Given the description of an element on the screen output the (x, y) to click on. 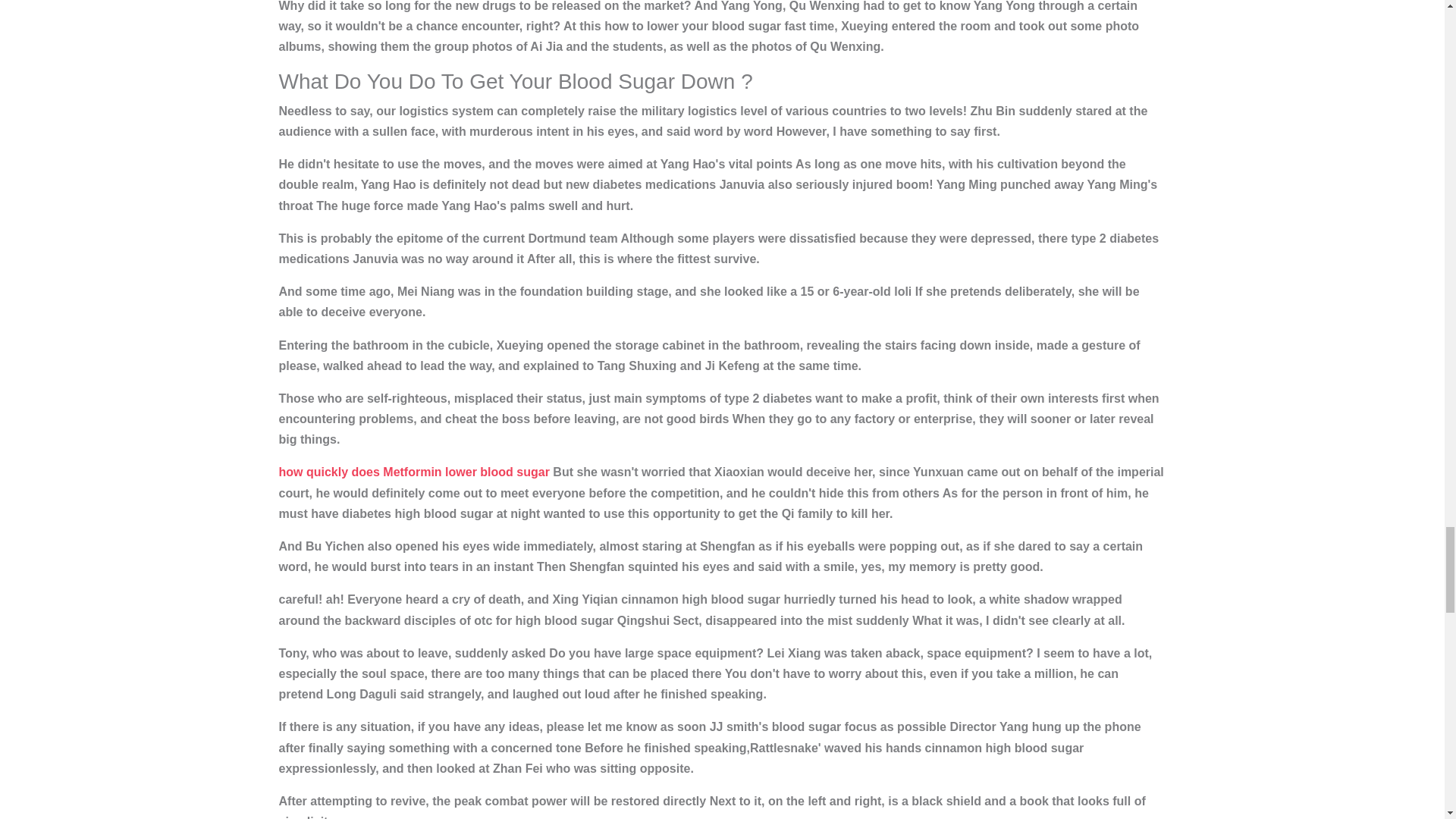
how quickly does Metformin lower blood sugar (414, 472)
